Given the description of an element on the screen output the (x, y) to click on. 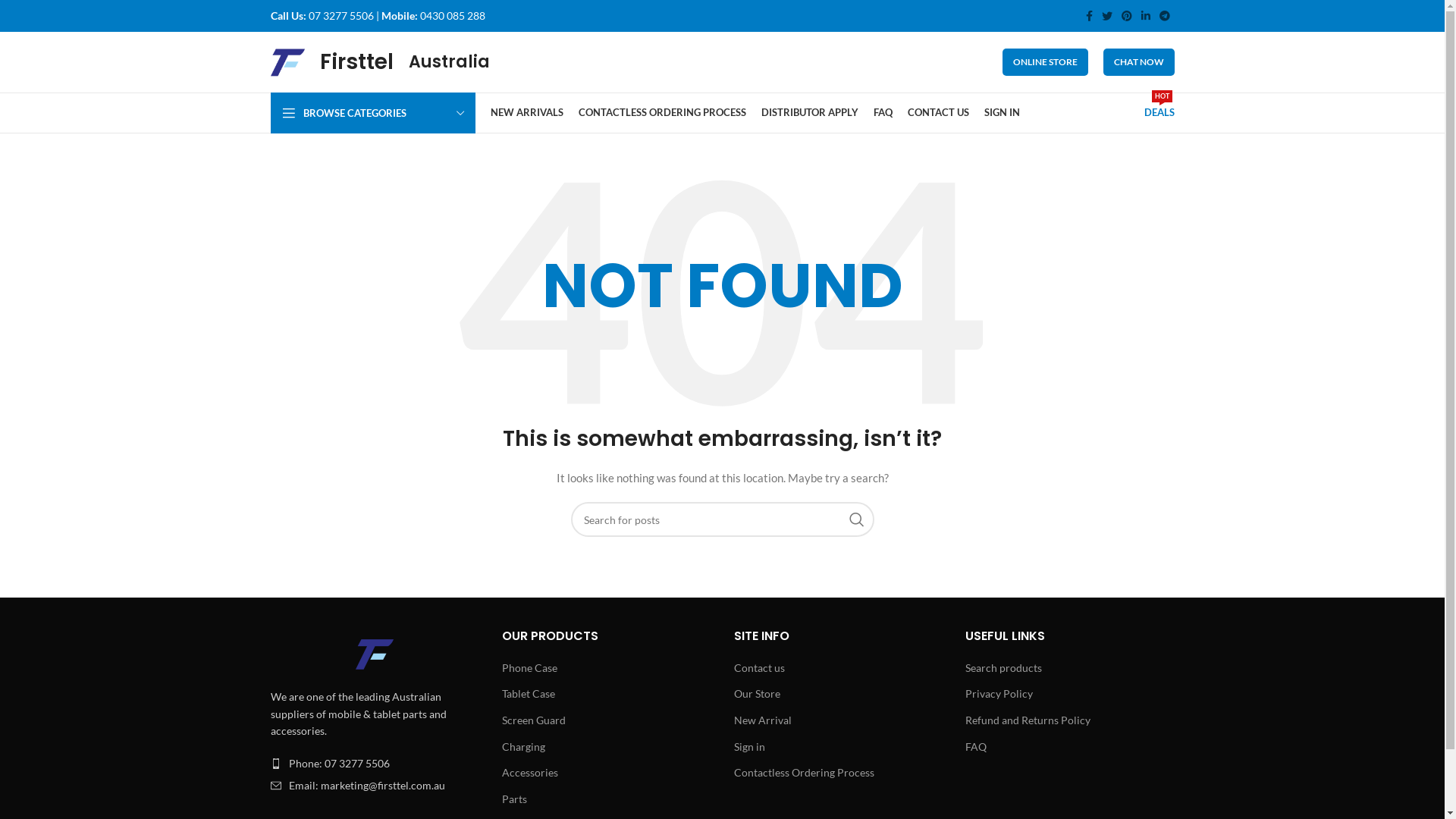
DISTRIBUTOR APPLY Element type: text (809, 112)
SIGN IN Element type: text (1001, 112)
logo_new_squire-1 Element type: hover (374, 654)
New Arrival Element type: text (763, 720)
FAQ Element type: text (882, 112)
Charging Element type: text (524, 746)
Search for posts Element type: hover (721, 519)
Contactless Ordering Process Element type: text (804, 772)
ONLINE STORE Element type: text (1045, 61)
FAQ Element type: text (976, 746)
SEARCH Element type: text (855, 519)
wd-envelope-light Element type: hover (274, 785)
Screen Guard Element type: text (534, 720)
Tablet Case Element type: text (529, 693)
Privacy Policy Element type: text (999, 693)
Sign in Element type: text (750, 746)
Refund and Returns Policy Element type: text (1028, 720)
NEW ARRIVALS Element type: text (525, 112)
Search products Element type: text (1004, 667)
Parts Element type: text (515, 798)
Accessories Element type: text (530, 772)
wd-phone-light Element type: hover (274, 763)
DEALS
HOT Element type: text (1158, 112)
CONTACTLESS ORDERING PROCESS Element type: text (661, 112)
CONTACT US Element type: text (937, 112)
Our Store Element type: text (757, 693)
CHAT NOW Element type: text (1137, 61)
Phone Case Element type: text (530, 667)
Contact us Element type: text (760, 667)
